Given the description of an element on the screen output the (x, y) to click on. 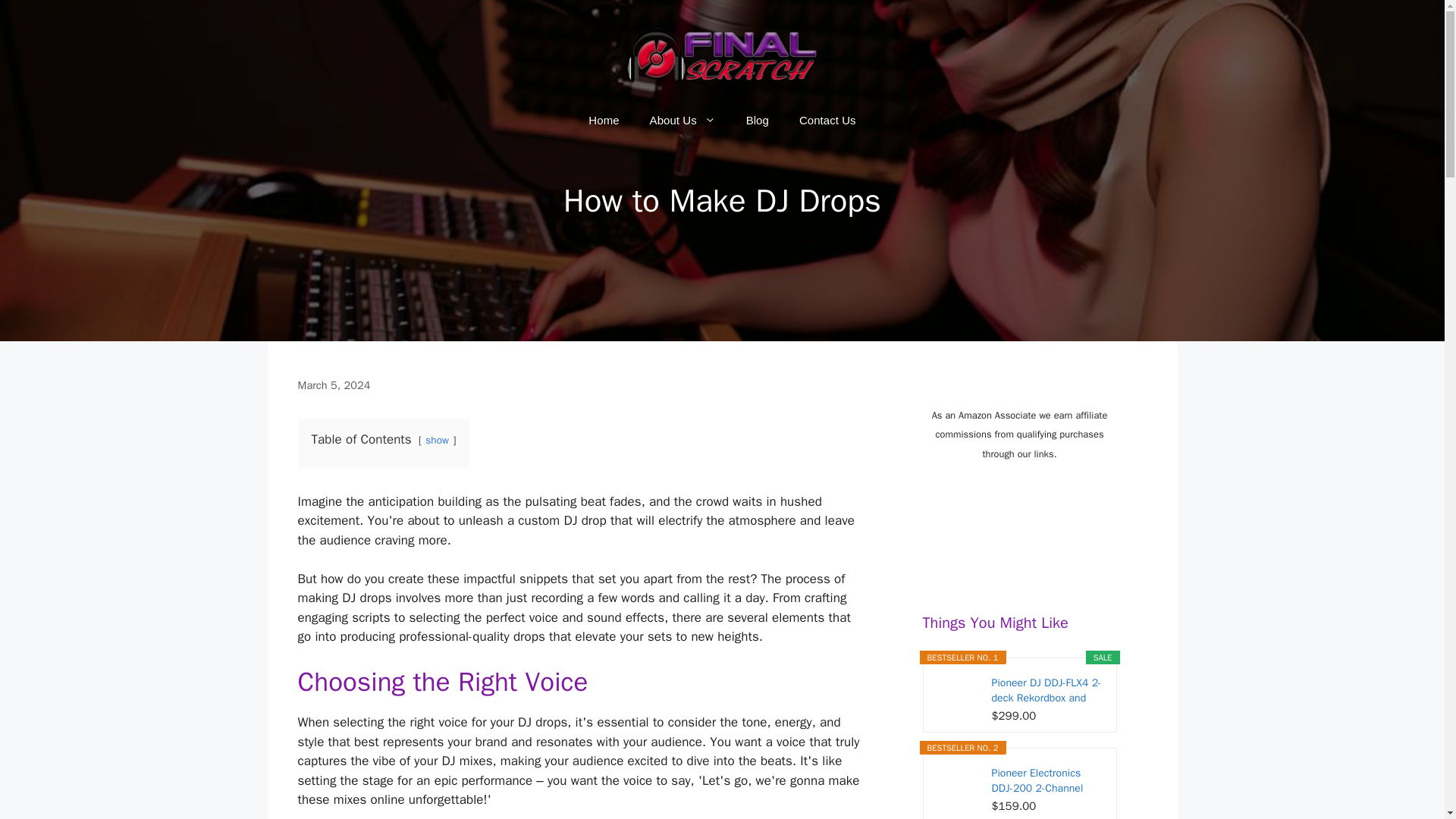
About Us (682, 120)
Contact Us (827, 120)
Final Scratch (721, 54)
Pioneer DJ DDJ-FLX4 2-deck Rekordbox and Serato DJ... (1048, 690)
Pioneer Electronics DDJ-200 2-Channel Smart DJ Controller (1048, 780)
Blog (757, 120)
show (436, 440)
Final Scratch (721, 53)
Home (603, 120)
